Given the description of an element on the screen output the (x, y) to click on. 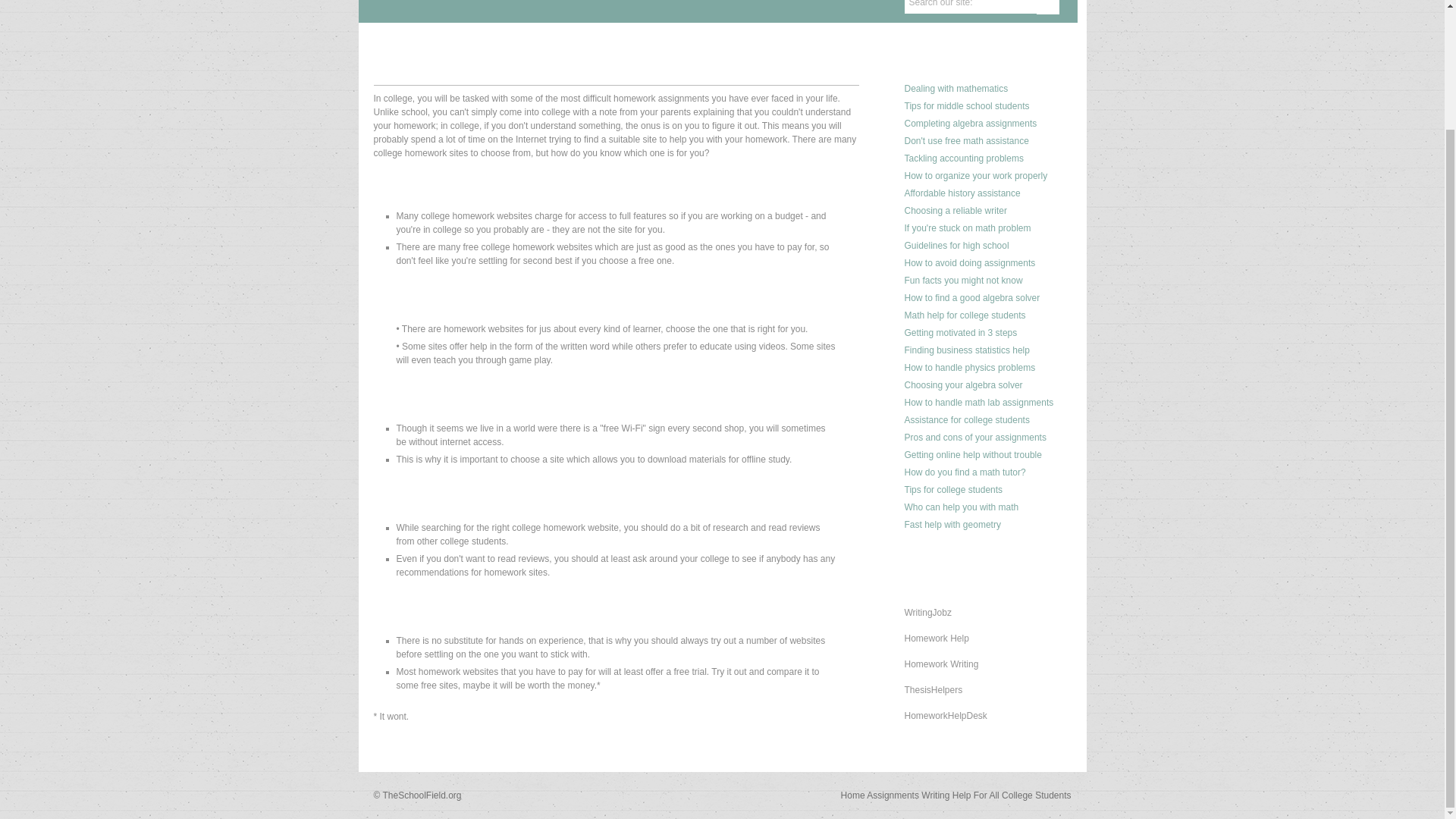
How To Get Motivated To Learn: List Of Great Suggestions (960, 332)
Usful Advices That Can Help You Deal With Homework (966, 105)
How To Do Algebra Homework Faster: List Of Suggestions (970, 122)
Search our site: (969, 6)
Searching For A Strong Online Algebra Homework Helper (971, 297)
How To Find Schools That Don't Give Homework Assignments (969, 262)
How To Find Math Homework Help: Useful Suggestions (967, 227)
How To Succeed With Matrh Homework: List Of Prompts (955, 88)
Helpful Tips: How To Do Your Accounting Homework Properly (963, 158)
Looking For A Good Assignment Writer: Some Useful Hints (955, 210)
Algebra Homework Solver: How To Find A Reliable One (963, 385)
High School Homework: What Is An Average Amount Of It (963, 280)
Organizing Your Homework Process: Some Useful Suggestions (975, 175)
Free Math Homework Assistance: Beware Of Using It (965, 140)
Good History Homework Help: How To Find It For Free (962, 193)
